Given the description of an element on the screen output the (x, y) to click on. 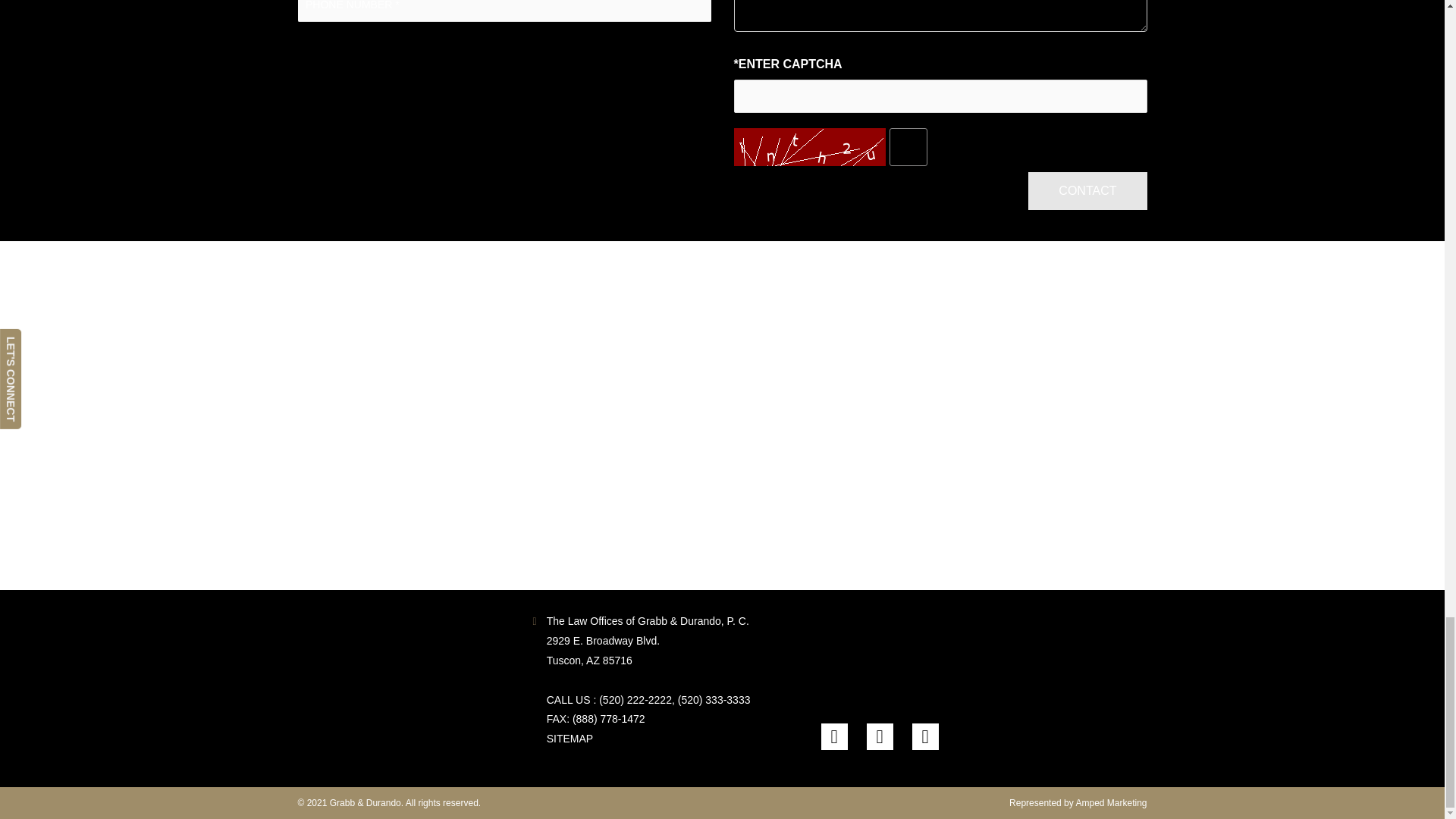
CONTACT (1087, 190)
